Given the description of an element on the screen output the (x, y) to click on. 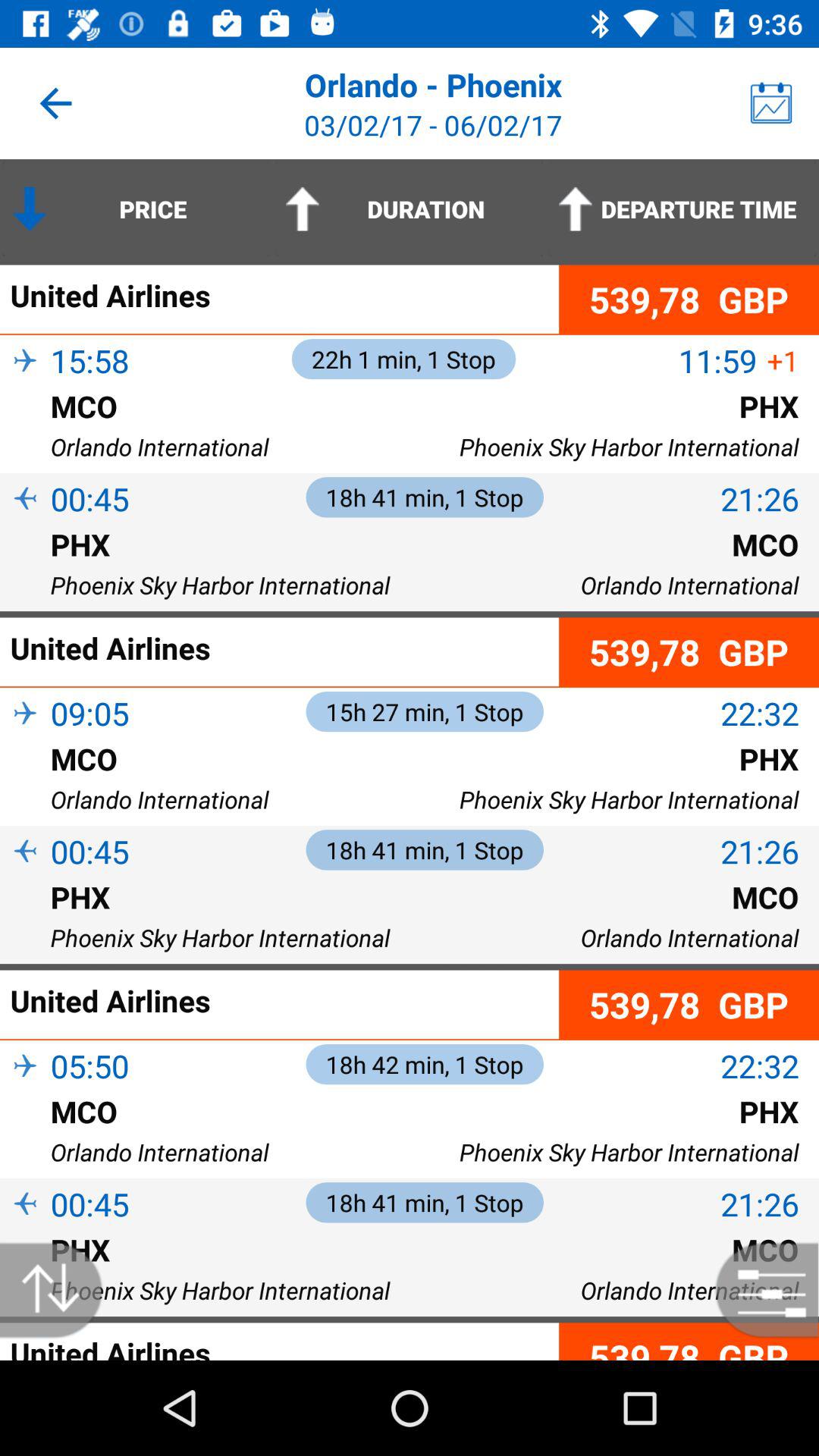
change order of flights (59, 1290)
